Given the description of an element on the screen output the (x, y) to click on. 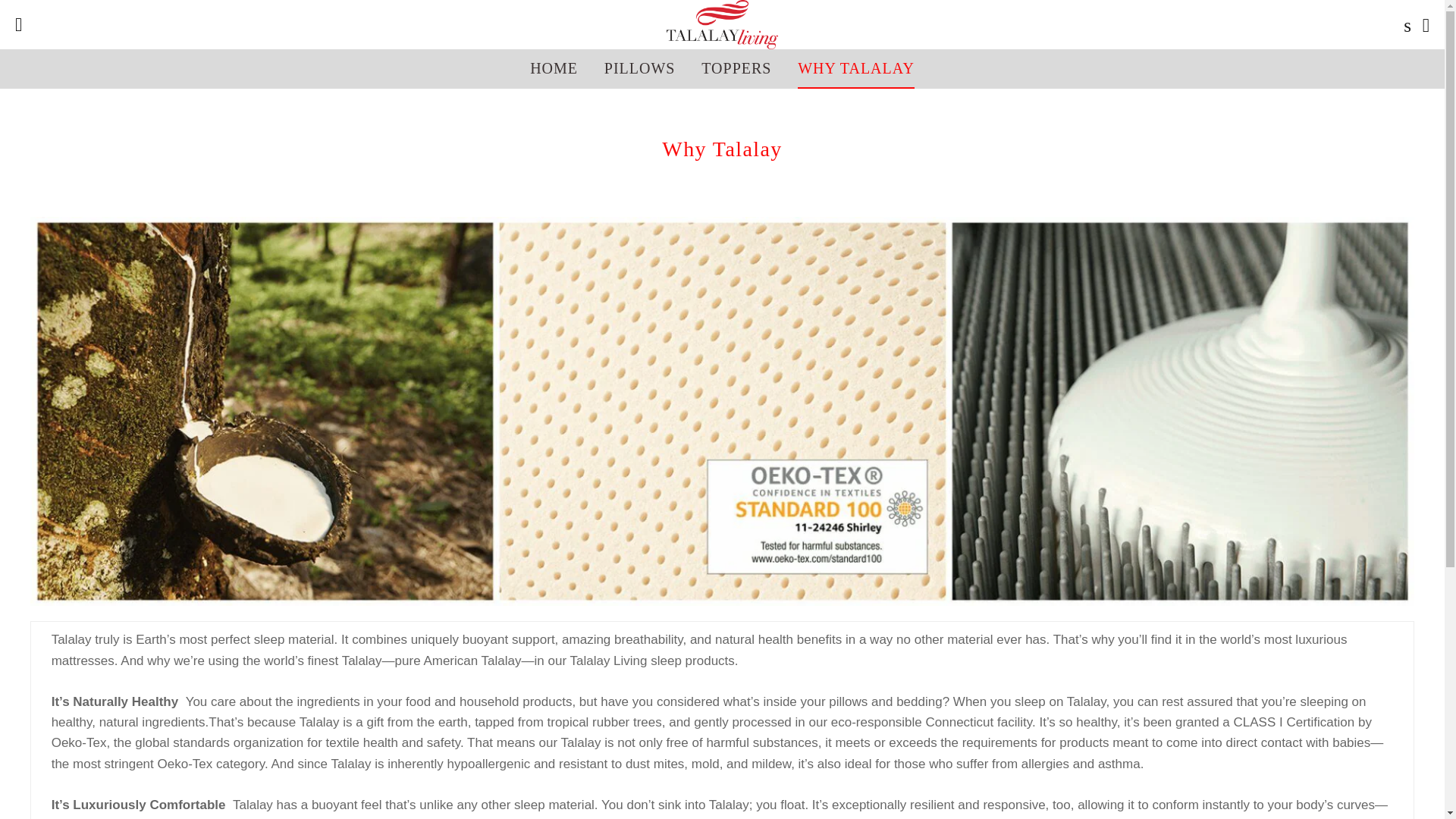
PILLOWS (639, 67)
TOPPERS (736, 67)
HOME (553, 67)
WHY TALALAY (856, 67)
